Given the description of an element on the screen output the (x, y) to click on. 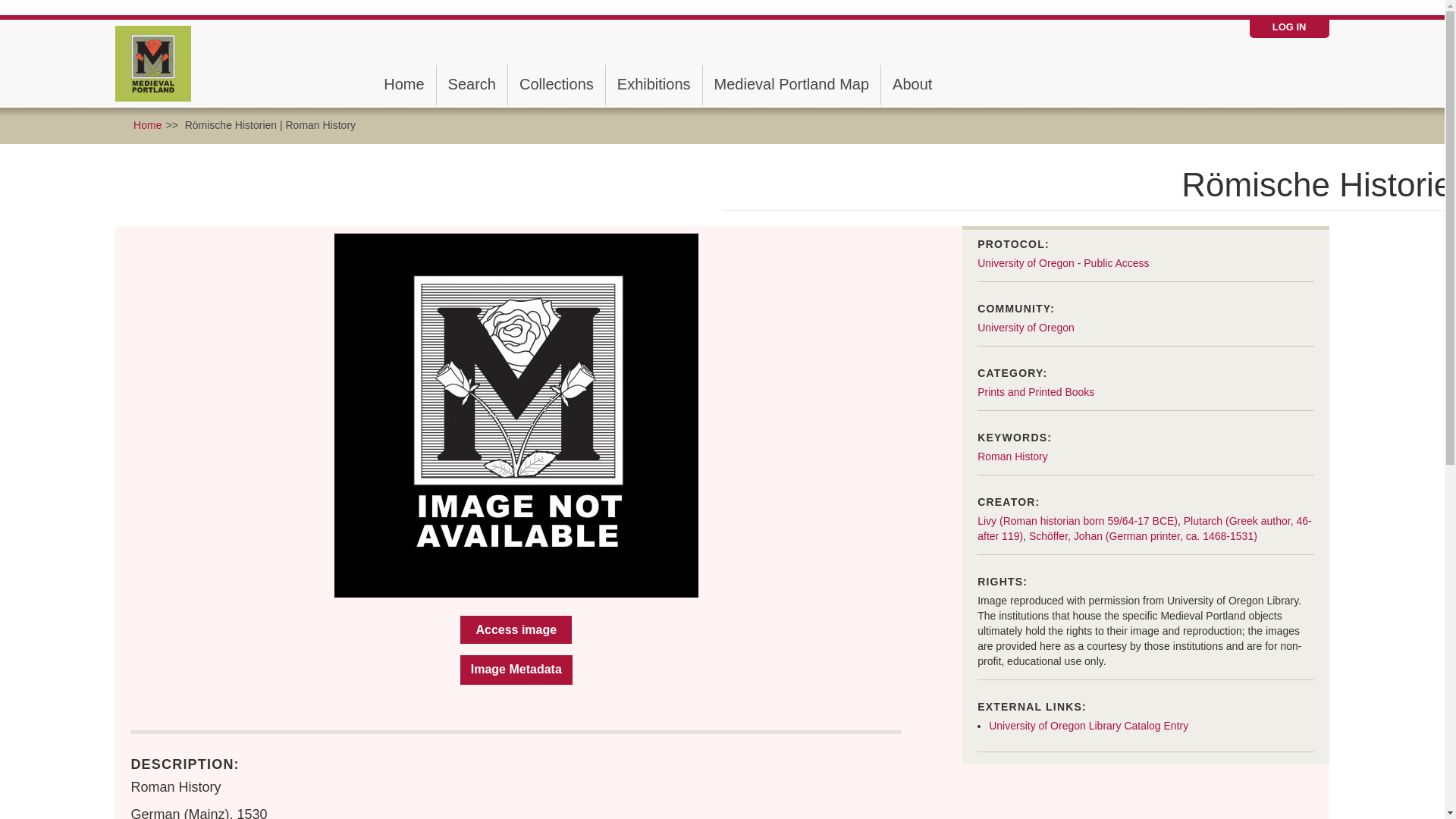
Search (471, 84)
Medieval Portland Map (791, 84)
LOG IN (1289, 26)
Access image (516, 629)
Home (158, 63)
University of Oregon - Public Access (1062, 263)
Home (403, 84)
Image Metadata (516, 669)
About (911, 84)
Collections (556, 84)
University of Oregon Library Catalog Entry (1088, 725)
Roman History (1012, 456)
Prints and Printed Books (1035, 391)
Exhibitions (653, 84)
